Given the description of an element on the screen output the (x, y) to click on. 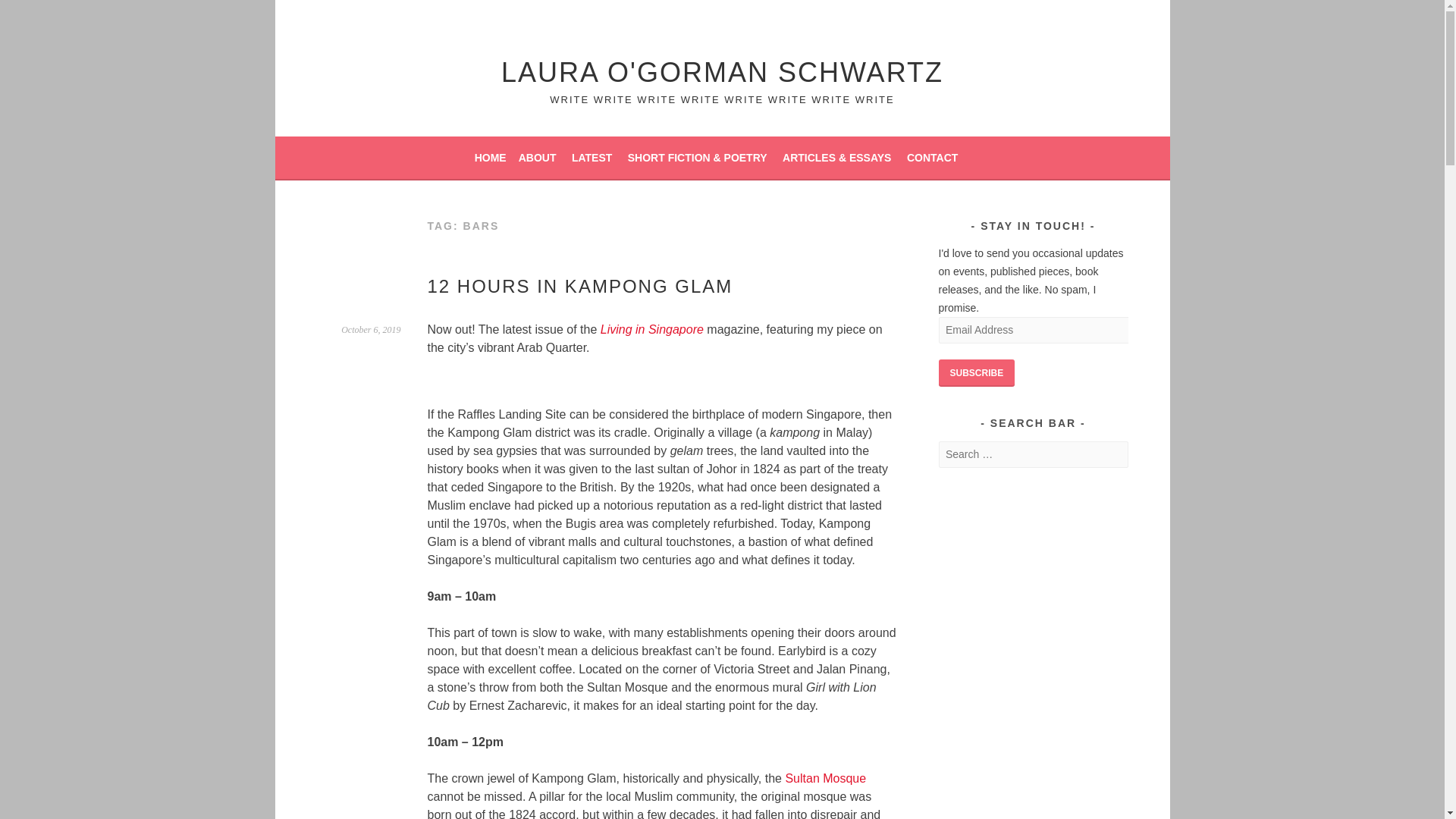
HOME (490, 157)
LAURA O'GORMAN SCHWARTZ (721, 71)
CONTACT (932, 157)
Living in Singapore (651, 328)
Laura O'Gorman Schwartz (721, 71)
Search (30, 13)
ABOUT (537, 157)
October 6, 2019 (370, 329)
LATEST (591, 157)
Sultan Mosque (825, 778)
